Given the description of an element on the screen output the (x, y) to click on. 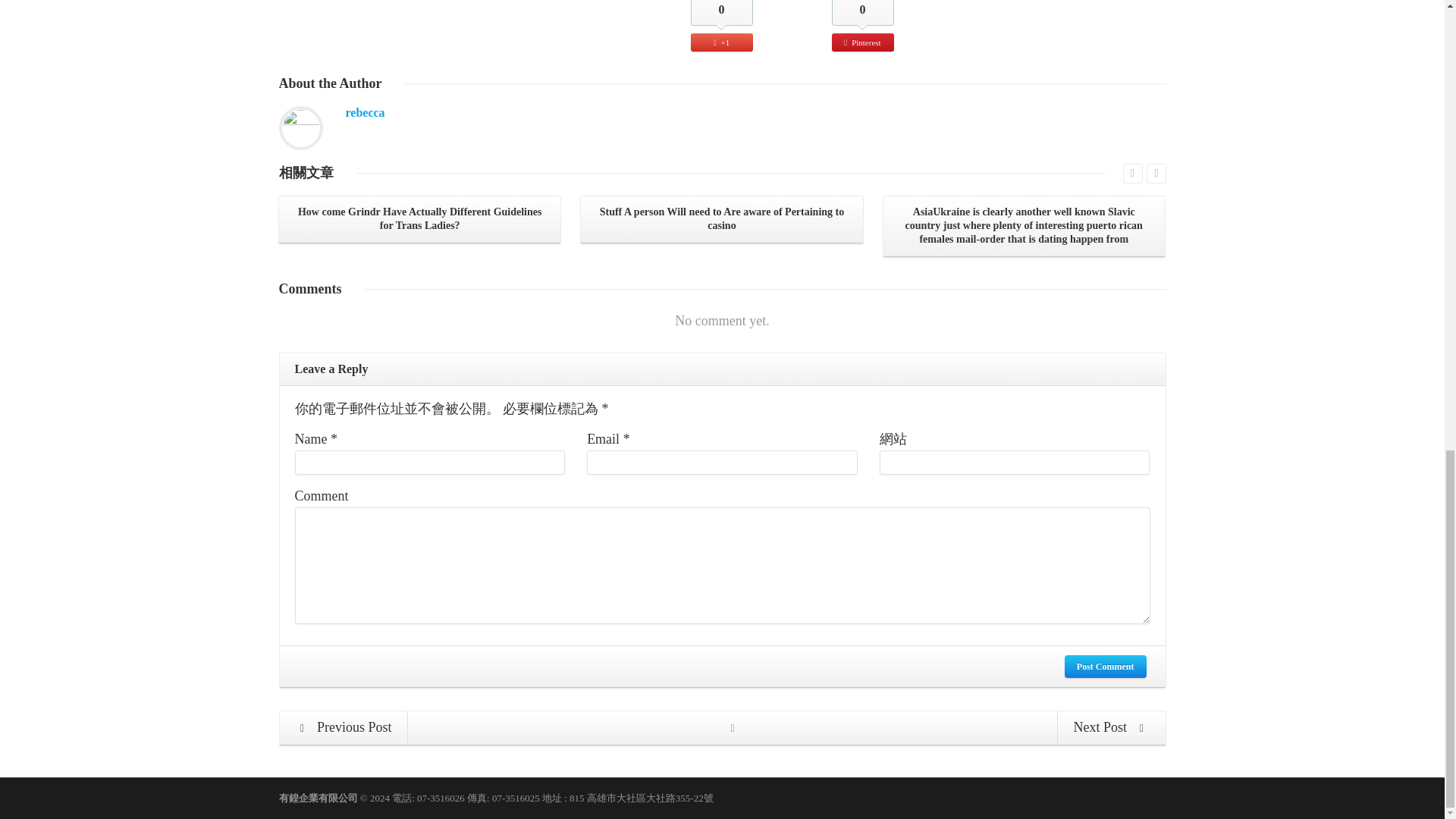
rebecca (365, 112)
Next Post (1110, 727)
Previous Post (344, 727)
Pinterest (862, 42)
0 (862, 12)
Author's Posts (365, 112)
0 (721, 12)
Post Comment (1105, 666)
